Given the description of an element on the screen output the (x, y) to click on. 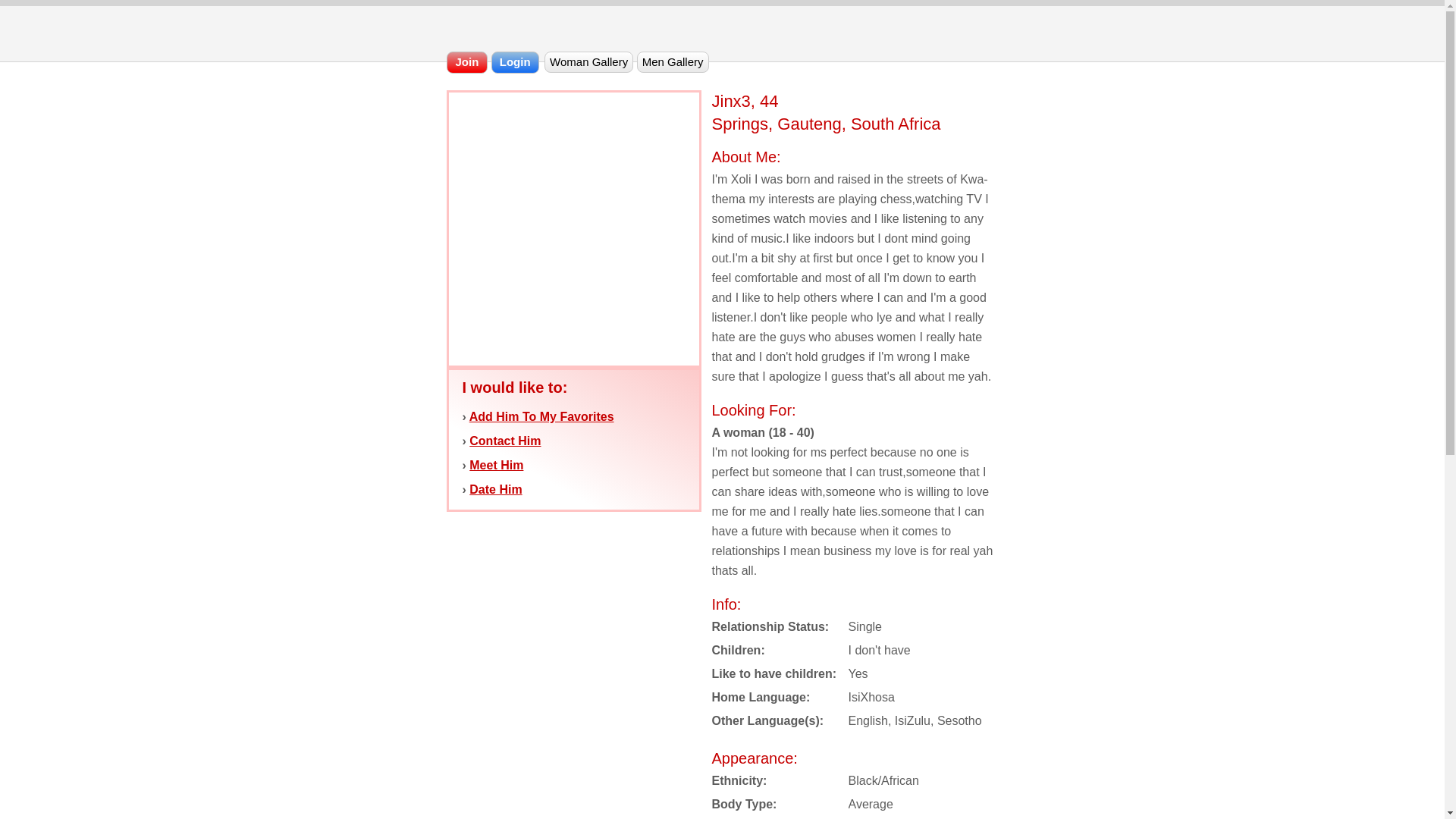
Join (466, 62)
Woman Gallery (588, 61)
Date Him (494, 489)
Meet Him (495, 464)
Add Him To My Favorites (541, 416)
Login (515, 62)
Men Gallery (673, 61)
Contact Him (504, 440)
